Given the description of an element on the screen output the (x, y) to click on. 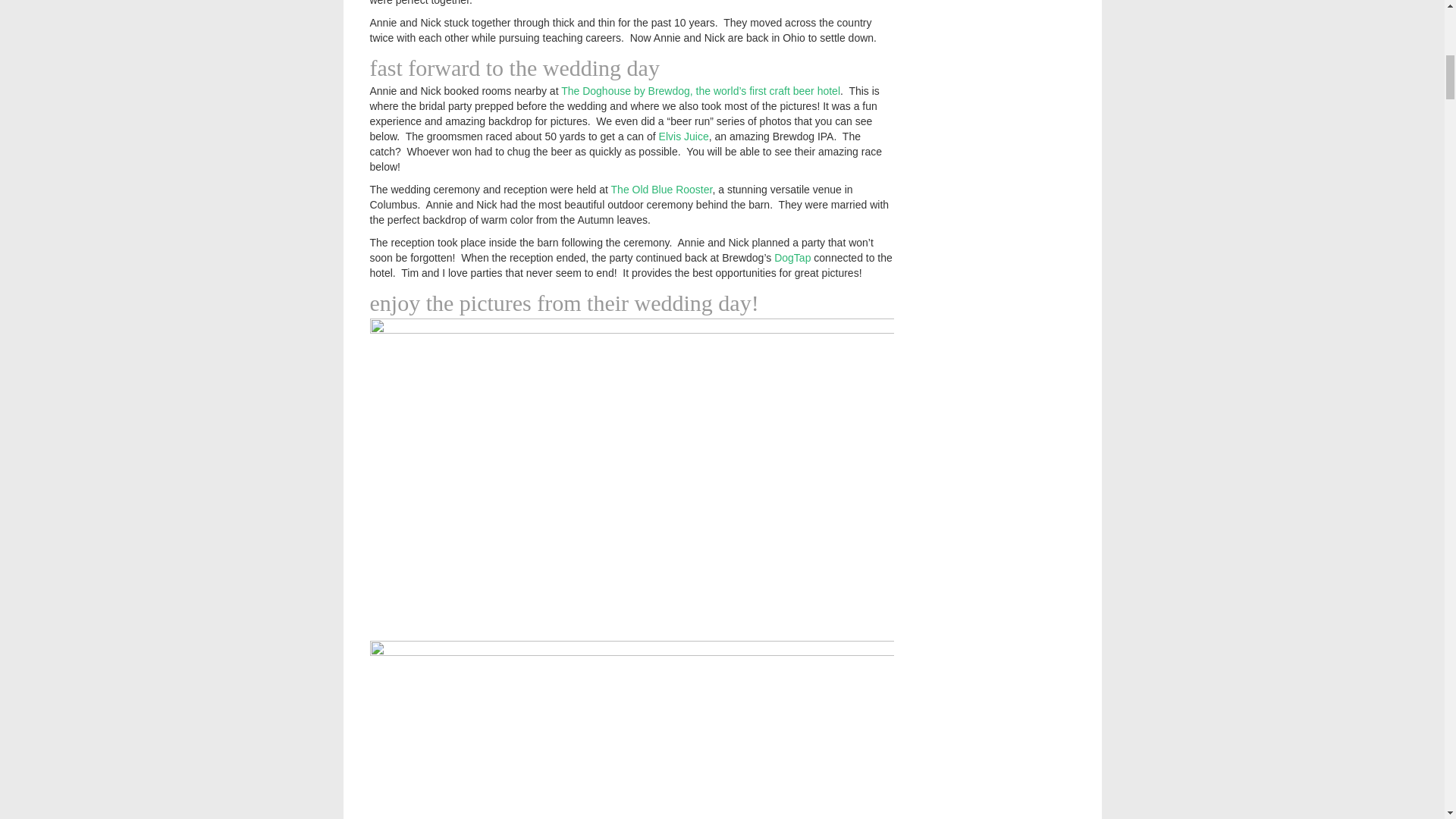
The Old Blue Rooster (662, 189)
DogTap (792, 257)
Elvis Juice (684, 136)
